Given the description of an element on the screen output the (x, y) to click on. 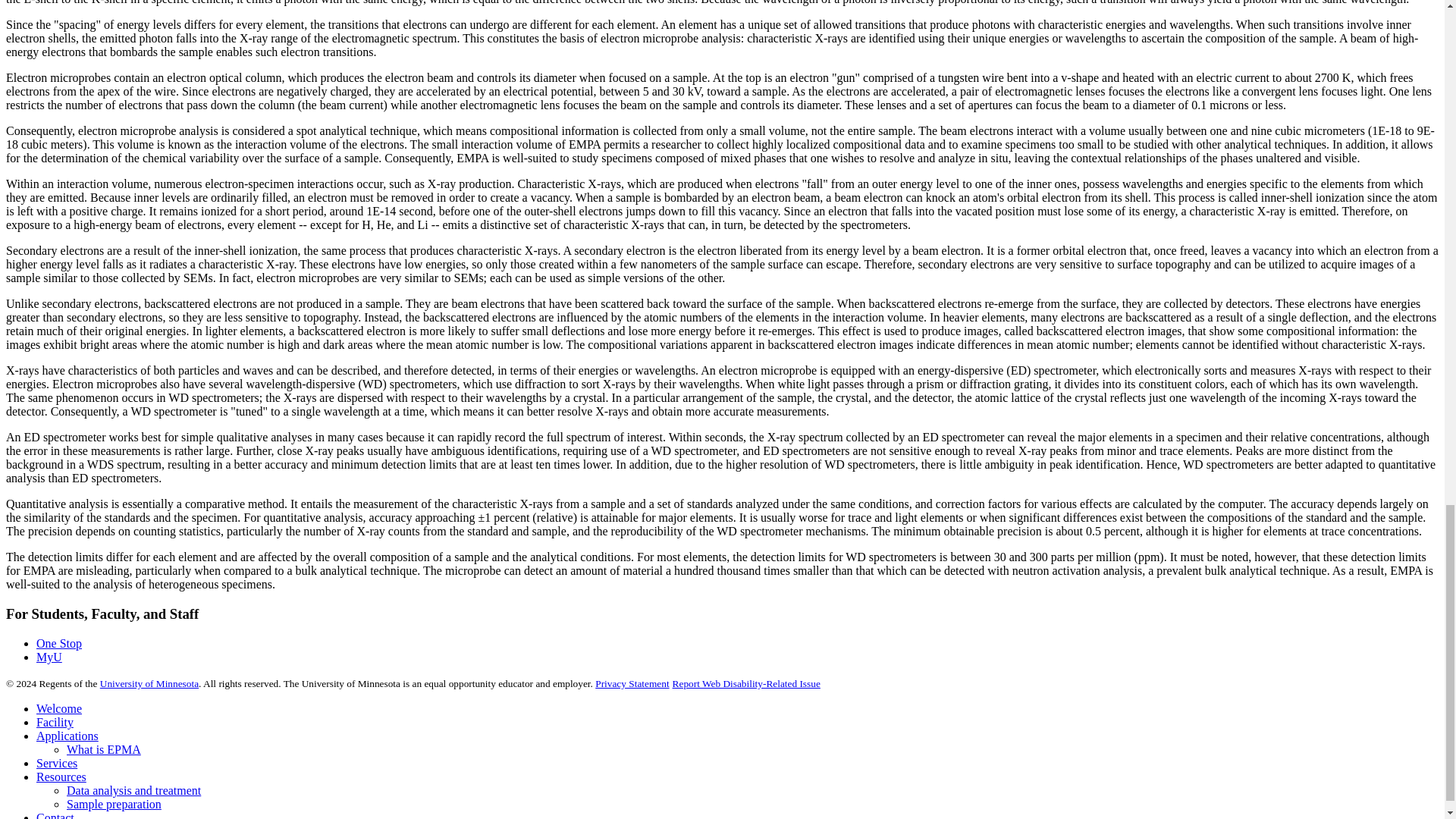
What is EPMA (103, 748)
Data analysis and treatment (133, 789)
Welcome (58, 707)
One Stop (58, 643)
Facility (55, 721)
EPMA Facility (55, 721)
Sample preparation (113, 803)
Applications (67, 735)
Report Web Disability-Related Issue (746, 683)
MyU (49, 656)
Services (56, 762)
Resources (60, 776)
University of Minnesota (149, 683)
Privacy Statement (631, 683)
